Given the description of an element on the screen output the (x, y) to click on. 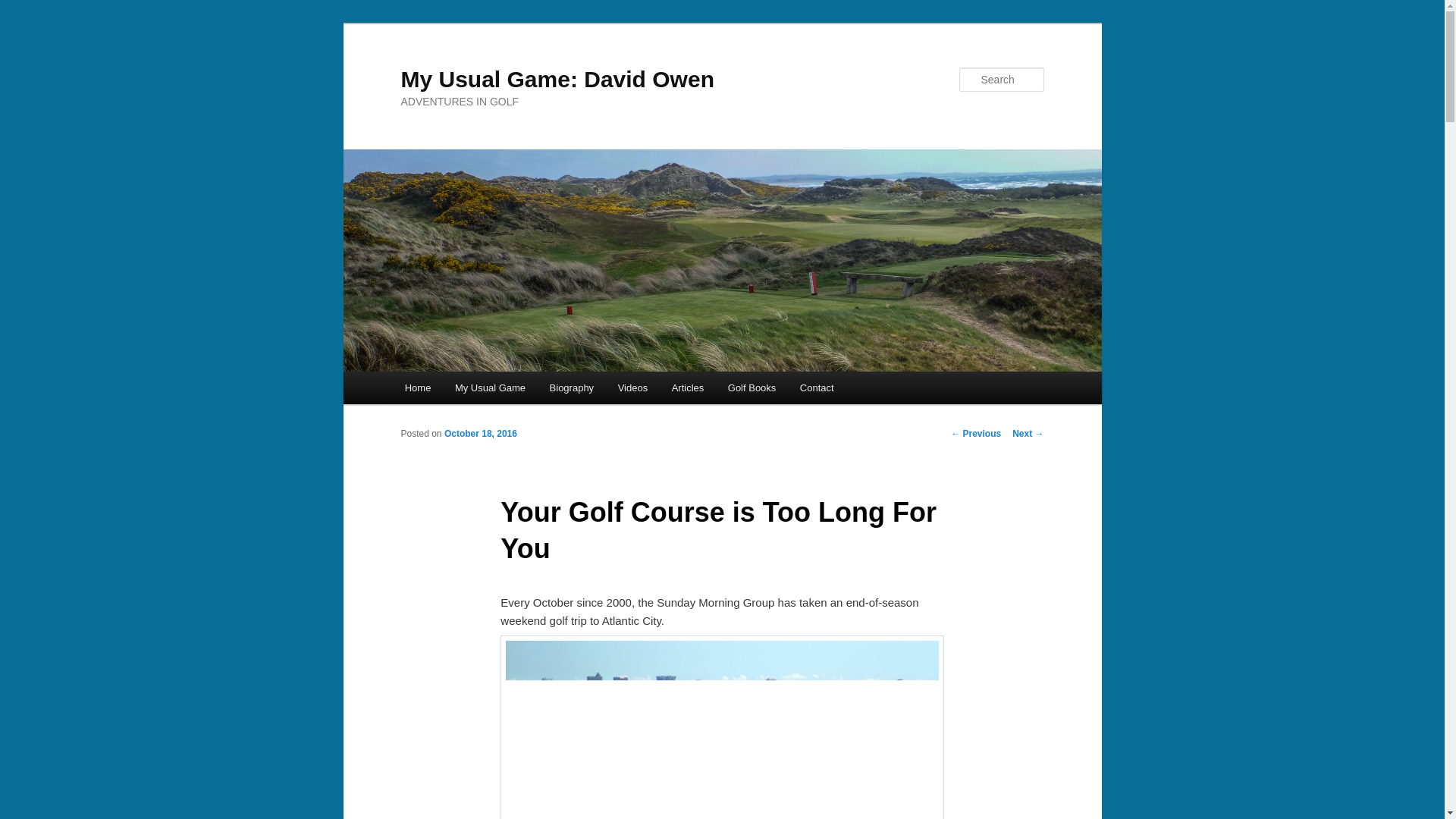
Articles (687, 387)
Home (417, 387)
7:41 pm (480, 433)
Videos (632, 387)
Biography (571, 387)
Search (24, 8)
Contact (816, 387)
Golf Books (751, 387)
October 18, 2016 (480, 433)
My Usual Game (489, 387)
My Usual Game: David Owen (556, 78)
